Given the description of an element on the screen output the (x, y) to click on. 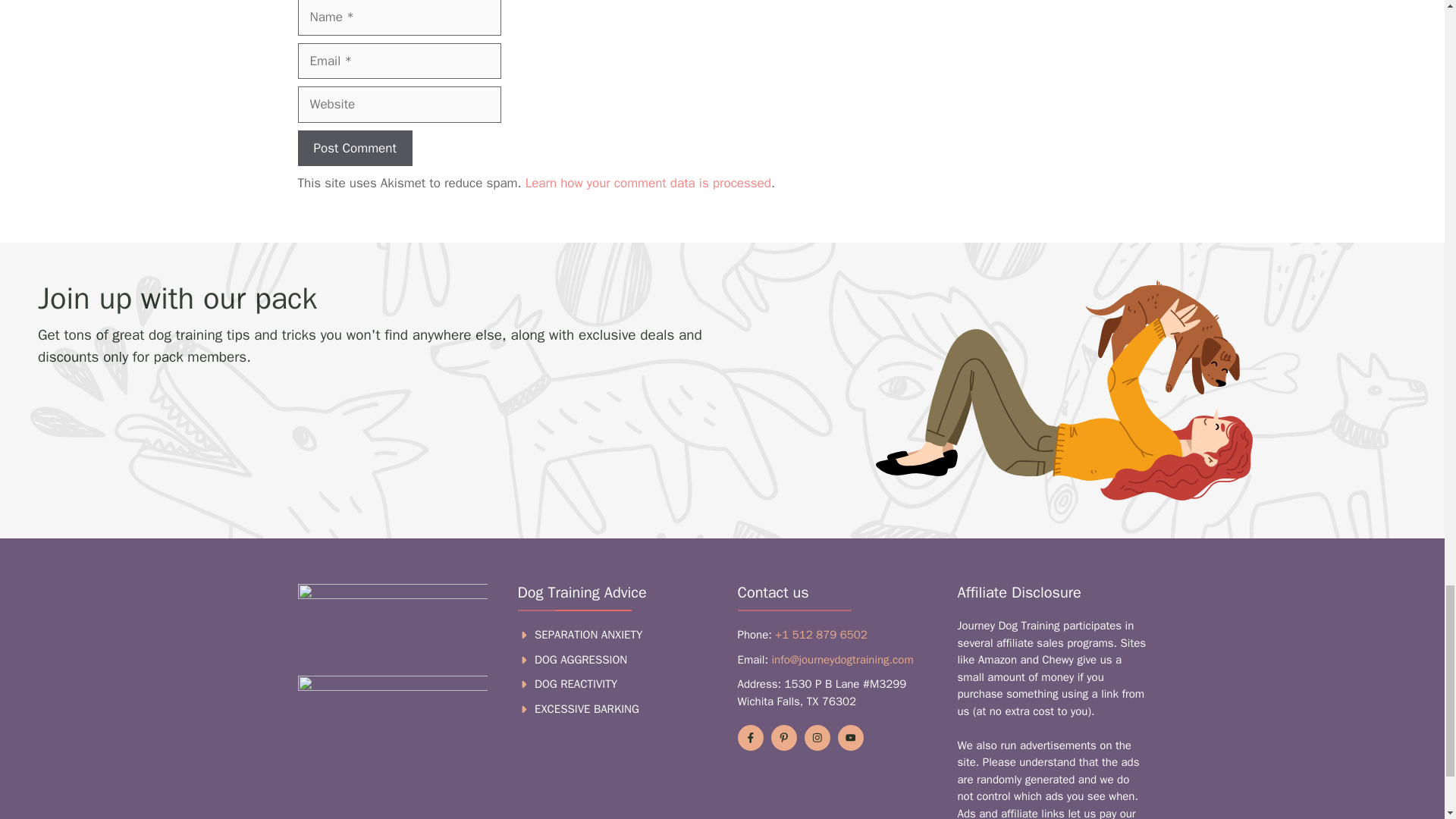
Human-Alliance-of-Dog-Trainers (391, 619)
Post Comment (354, 148)
SEPARATION ANXIETY (588, 634)
DOG AGGRESSION (580, 659)
IAABC-Certified (391, 727)
Post Comment (354, 148)
EXCESSIVE BARKING (586, 708)
Learn how your comment data is processed (648, 182)
DOG REACTIVITY (575, 684)
girl-holding-dog (1064, 390)
